Given the description of an element on the screen output the (x, y) to click on. 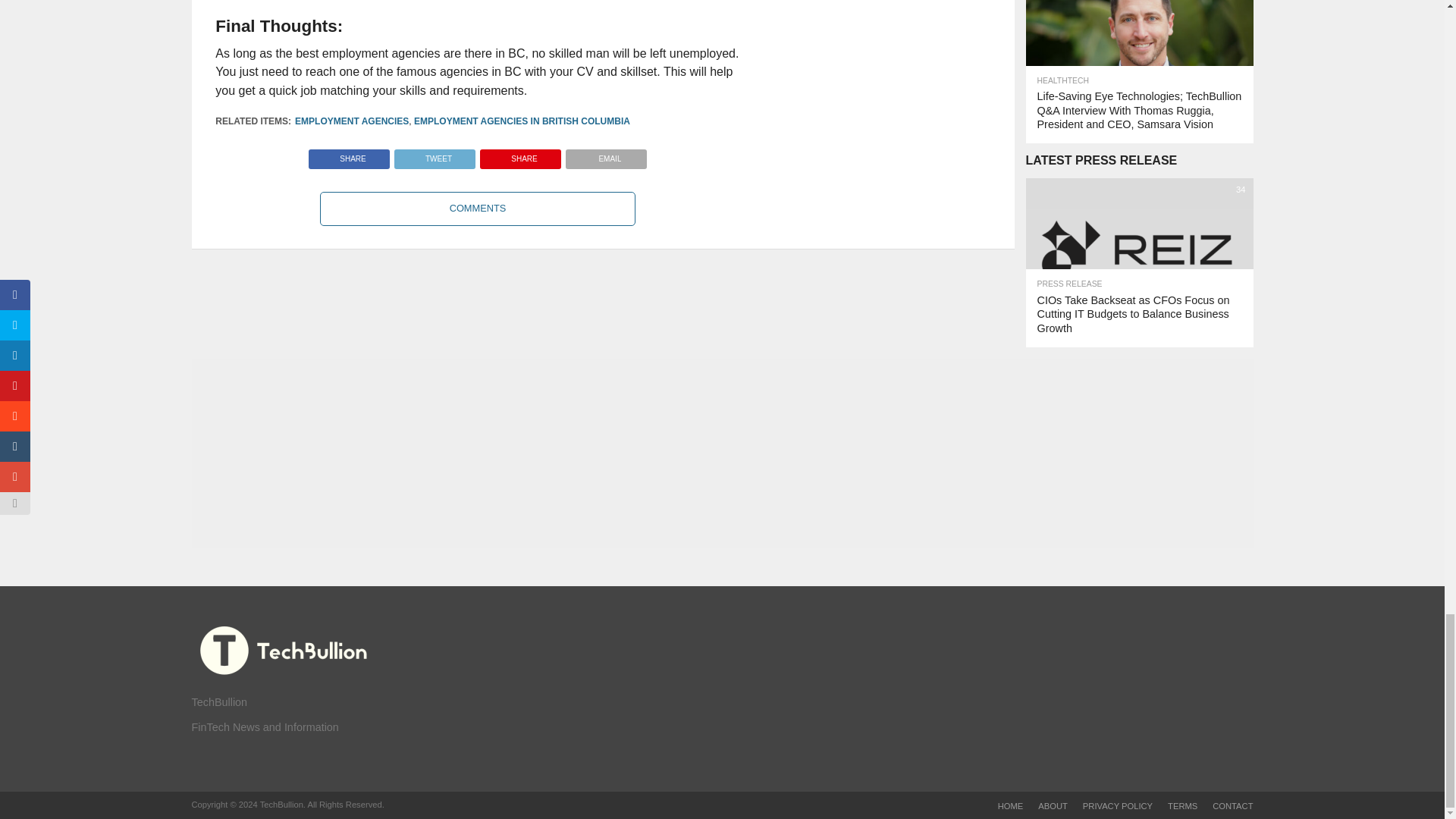
Share on Facebook (349, 154)
Tweet This Post (434, 154)
Pin This Post (520, 154)
